Given the description of an element on the screen output the (x, y) to click on. 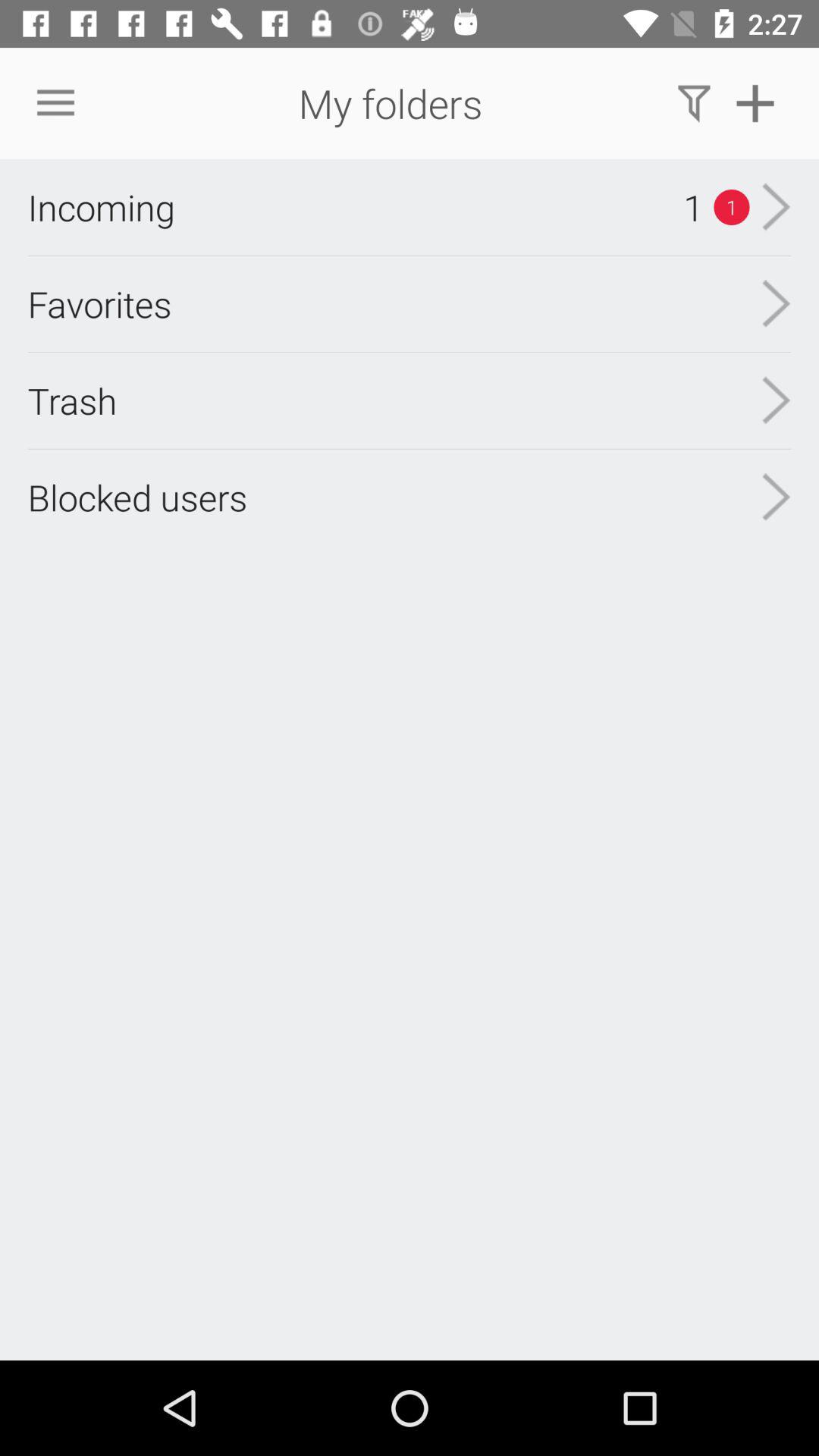
choose the icon above the 1 item (693, 102)
